Given the description of an element on the screen output the (x, y) to click on. 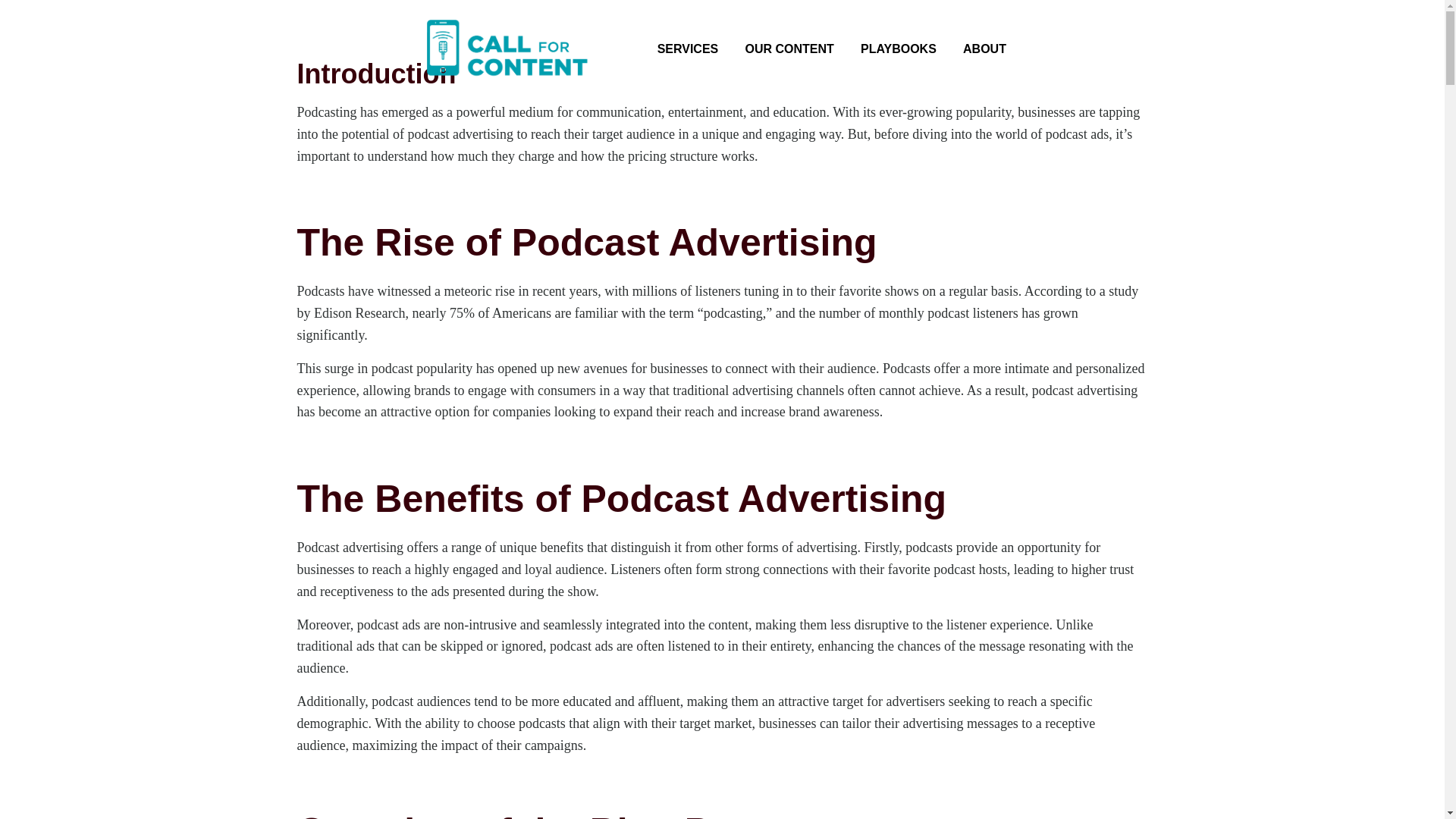
ABOUT (990, 49)
OUR CONTENT (795, 49)
PLAYBOOKS (904, 49)
SERVICES (693, 49)
